Given the description of an element on the screen output the (x, y) to click on. 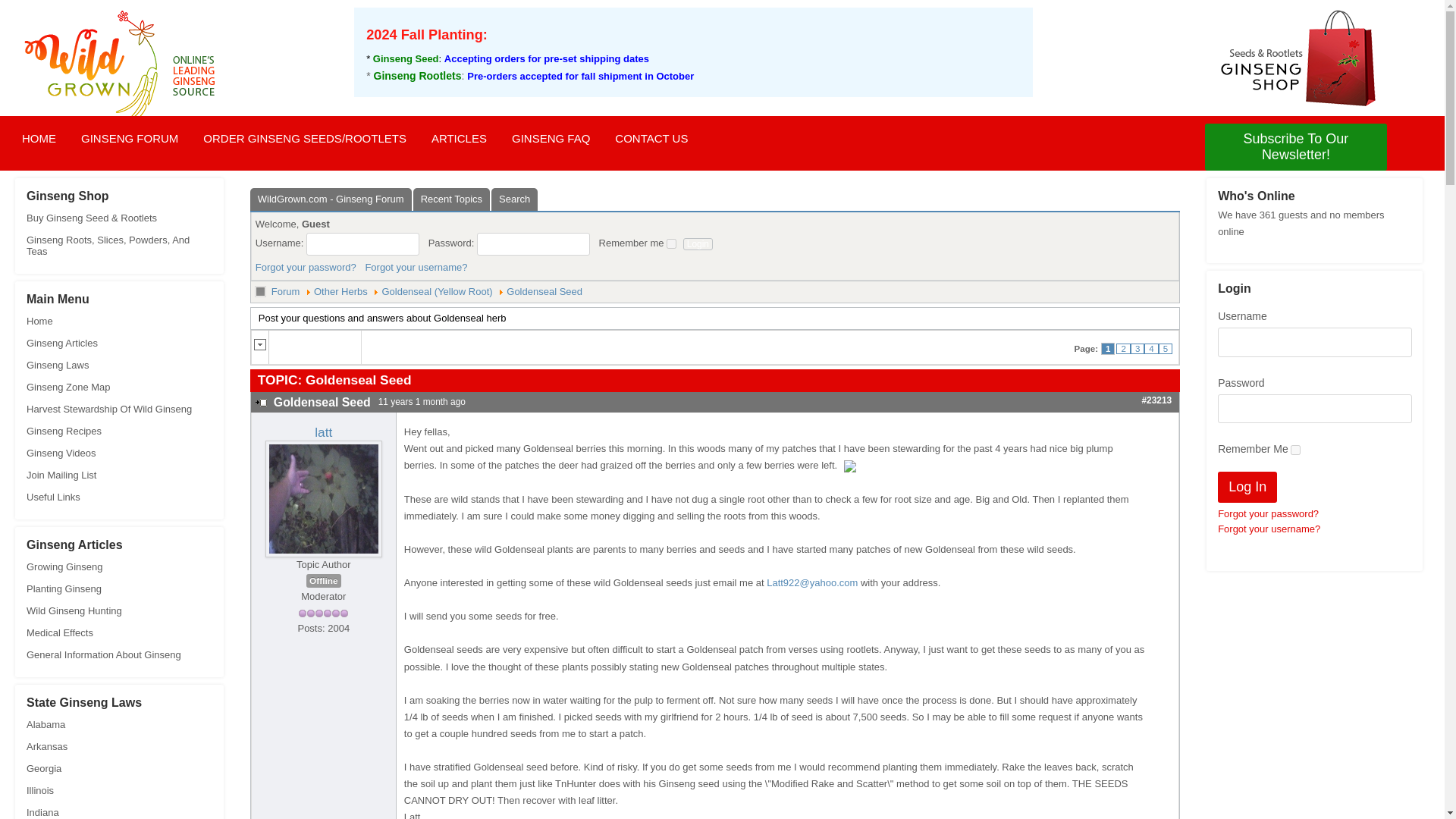
yes (1295, 450)
2 (1122, 348)
Offline (322, 581)
latt (322, 432)
3 (1137, 348)
4 (1150, 348)
View latt's Profile (322, 432)
Login (697, 244)
Recent Topics (451, 199)
Search (514, 199)
